Given the description of an element on the screen output the (x, y) to click on. 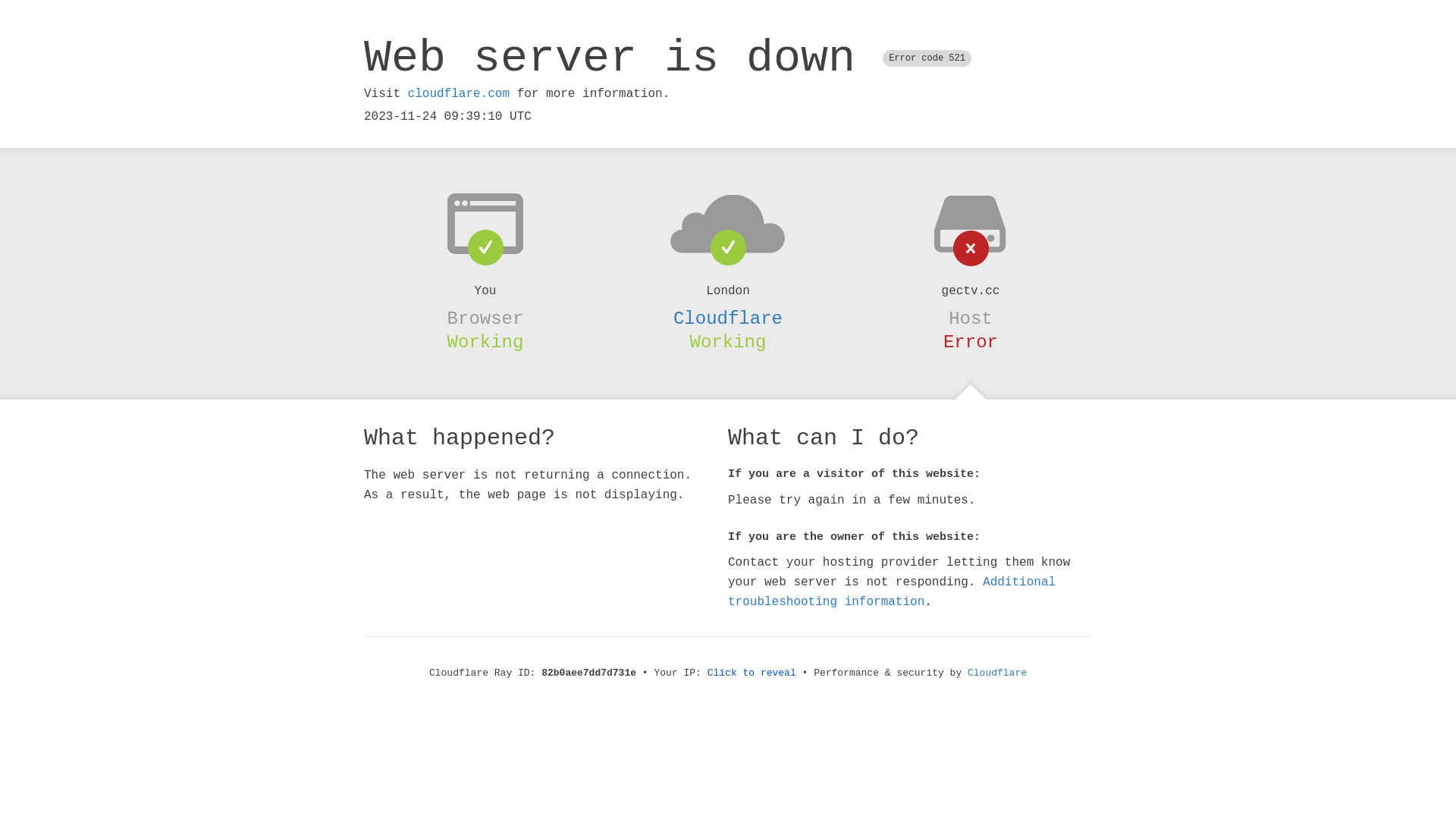
Click to reveal Element type: text (751, 672)
Cloudflare Element type: text (996, 672)
cloudflare.com Element type: text (458, 93)
Cloudflare Element type: text (727, 318)
Additional troubleshooting information Element type: text (891, 591)
